Given the description of an element on the screen output the (x, y) to click on. 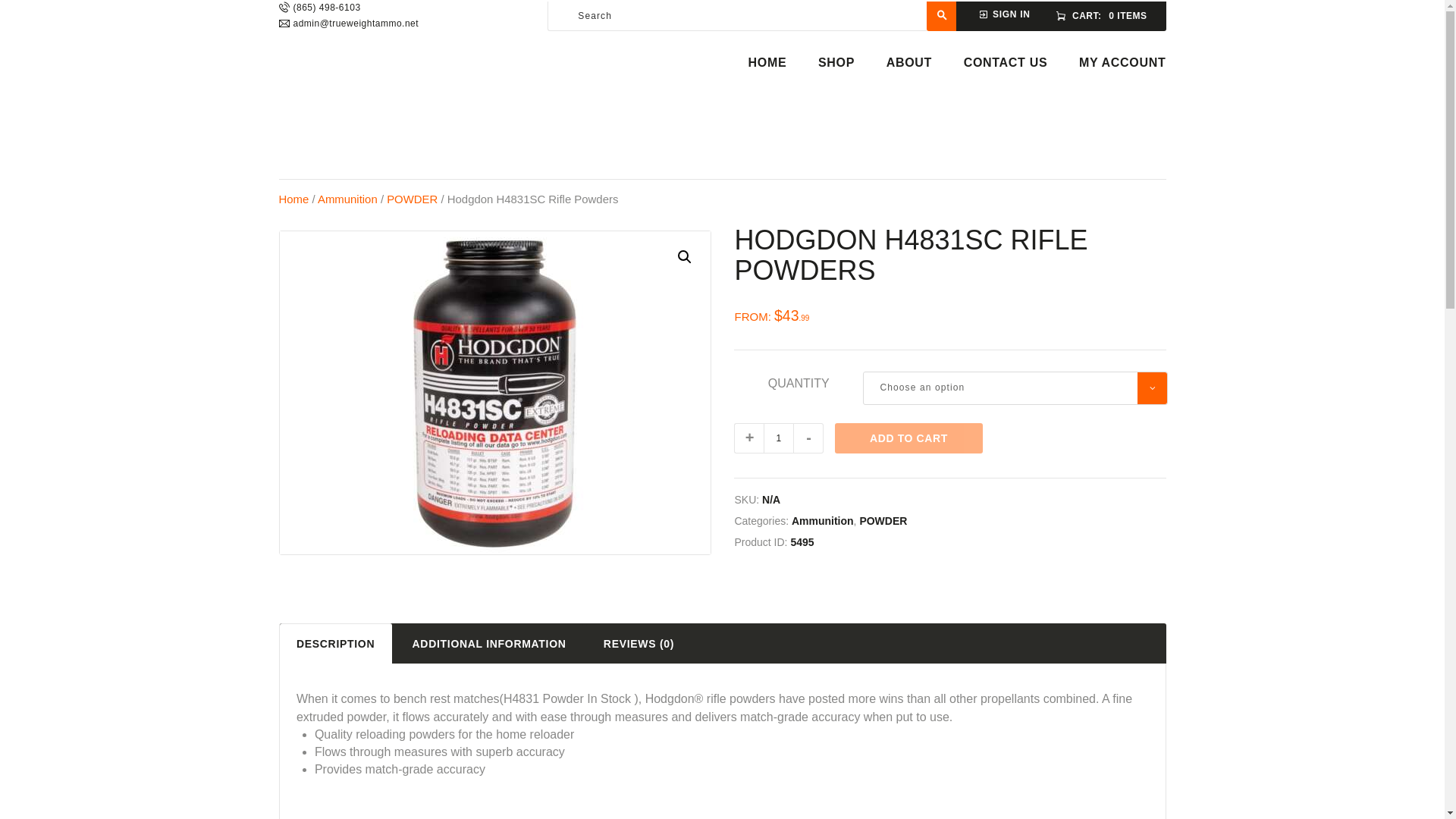
ADD TO CART (908, 438)
1 (777, 438)
Ammunition (822, 521)
ABOUT (908, 62)
CONTACT US (1005, 62)
SHOP (836, 62)
HOME (767, 62)
SIGN IN (1004, 13)
ADDITIONAL INFORMATION (488, 643)
MY ACCOUNT (1122, 62)
POWDER (412, 198)
Ammunition (347, 198)
Home (293, 198)
POWDER (883, 521)
